Given the description of an element on the screen output the (x, y) to click on. 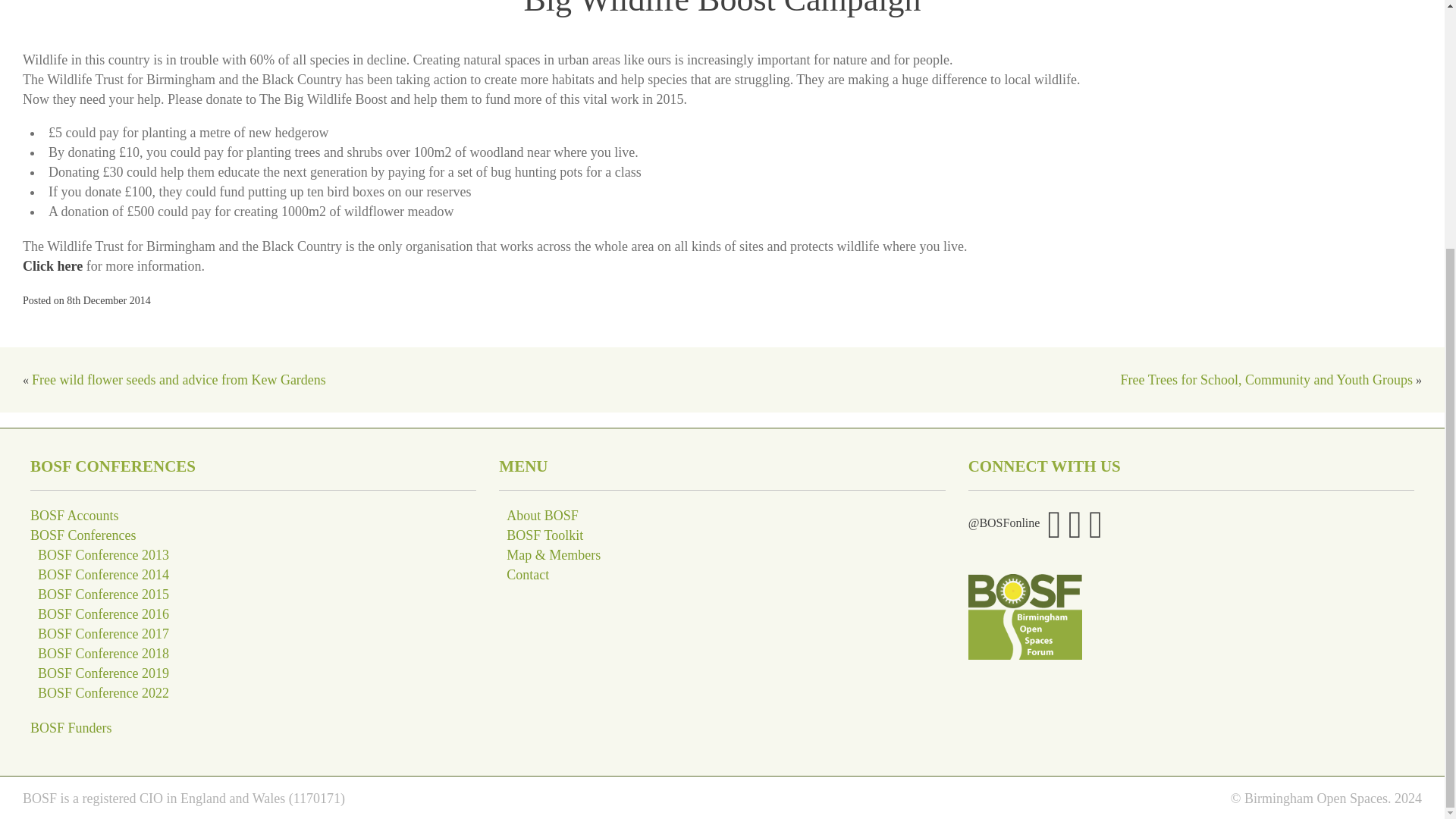
BOSF Conference 2016 (102, 613)
Click here (52, 265)
BOSF Conference 2022 (102, 693)
BOSF Conference 2017 (102, 633)
BOSF Toolkit (544, 534)
BOSF Conference 2018 (102, 653)
BOSF Funders (71, 727)
BOSF Conference 2013 (102, 554)
About BOSF (542, 515)
BOSF Conference 2019 (102, 672)
BOSF Conference 2014 (102, 574)
BOSF Conference 2015 (102, 594)
BOSF Accounts (74, 515)
Big Wildlife Boost (52, 265)
BOSF Conferences (82, 534)
